Given the description of an element on the screen output the (x, y) to click on. 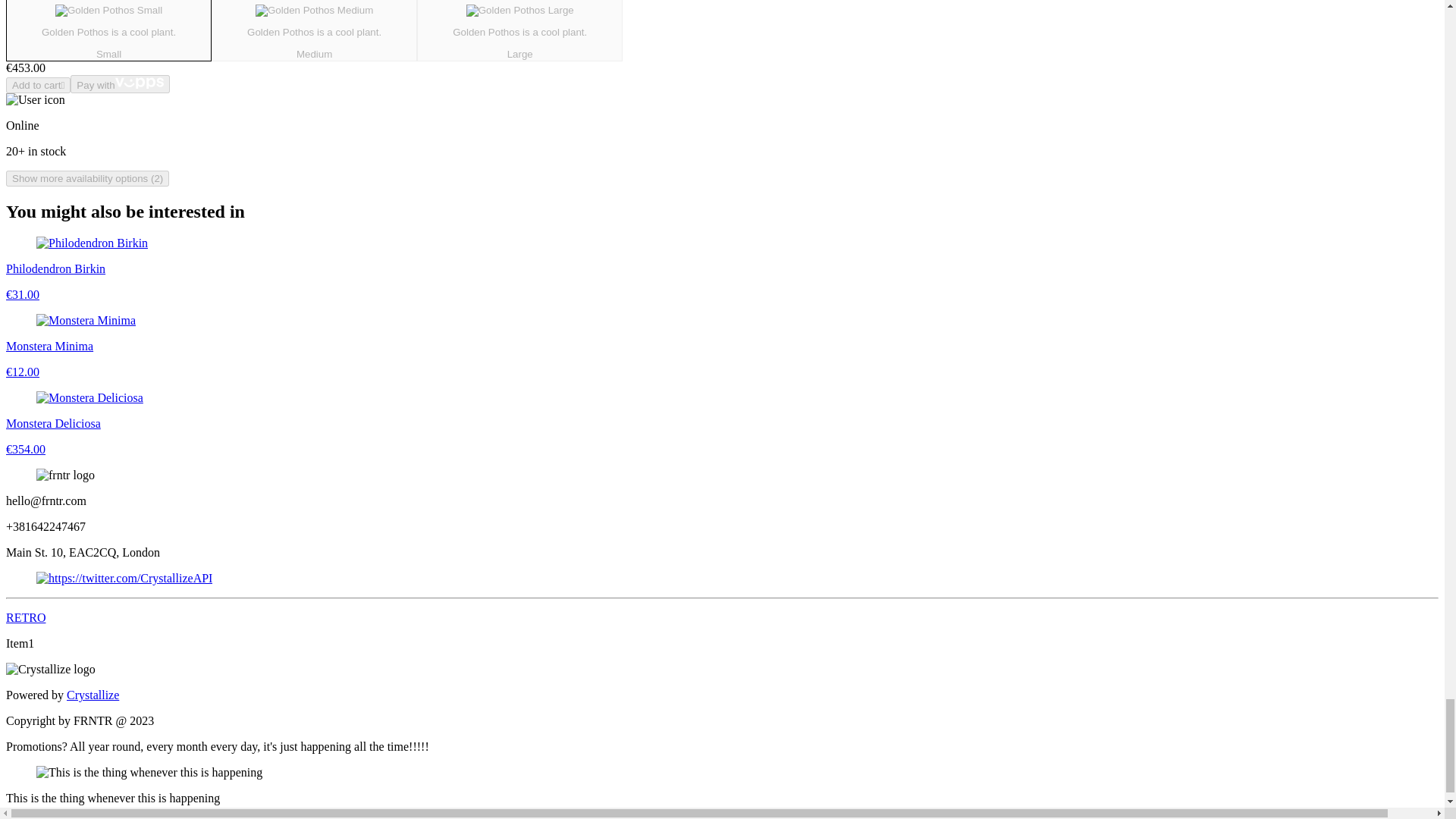
Crystallize (92, 694)
RETRO (25, 617)
Pay with (519, 30)
